Given the description of an element on the screen output the (x, y) to click on. 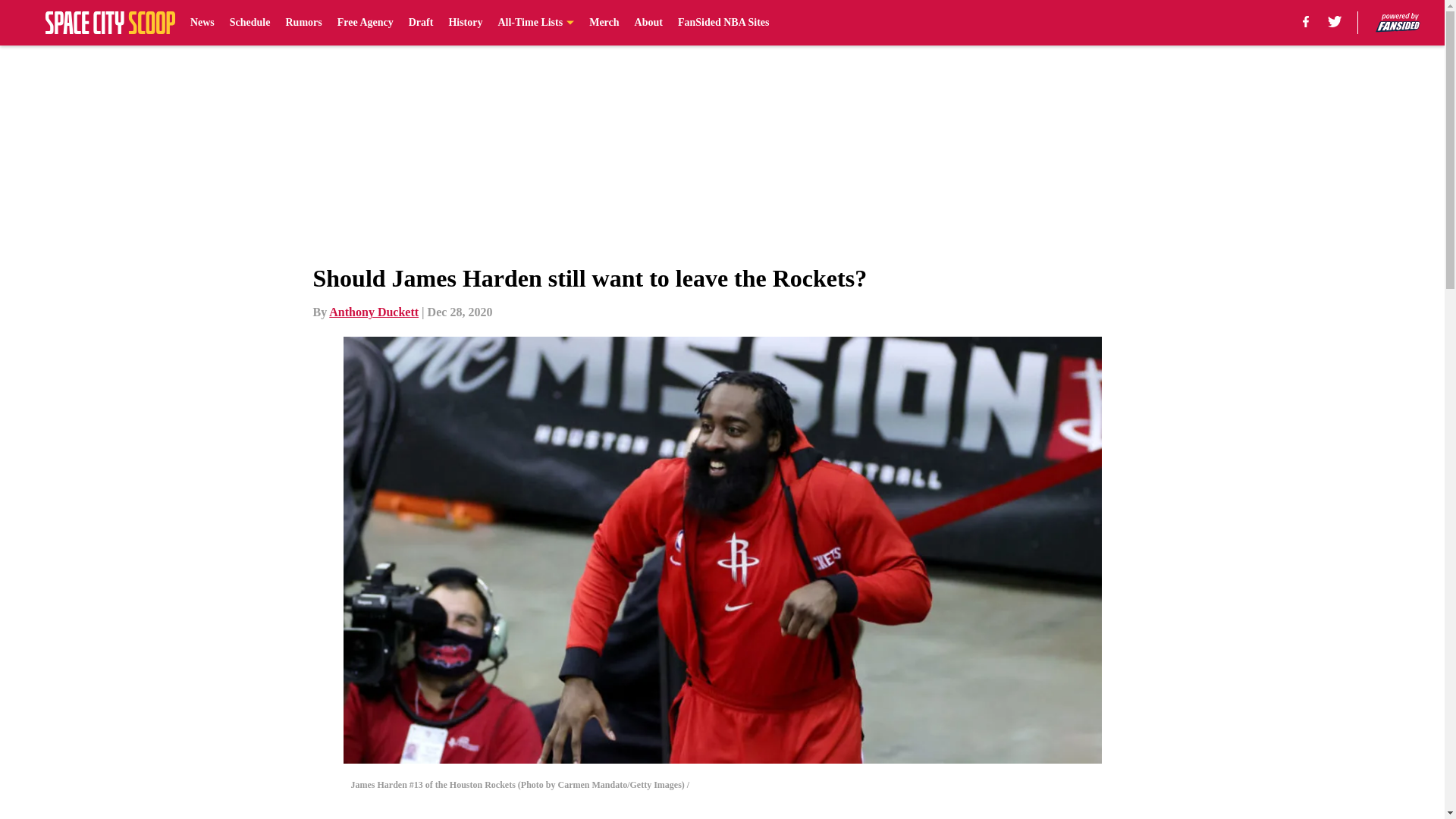
History (464, 22)
About (648, 22)
Merch (603, 22)
Schedule (250, 22)
FanSided NBA Sites (724, 22)
Anthony Duckett (374, 311)
Free Agency (365, 22)
All-Time Lists (535, 22)
Rumors (303, 22)
News (202, 22)
Draft (421, 22)
